Given the description of an element on the screen output the (x, y) to click on. 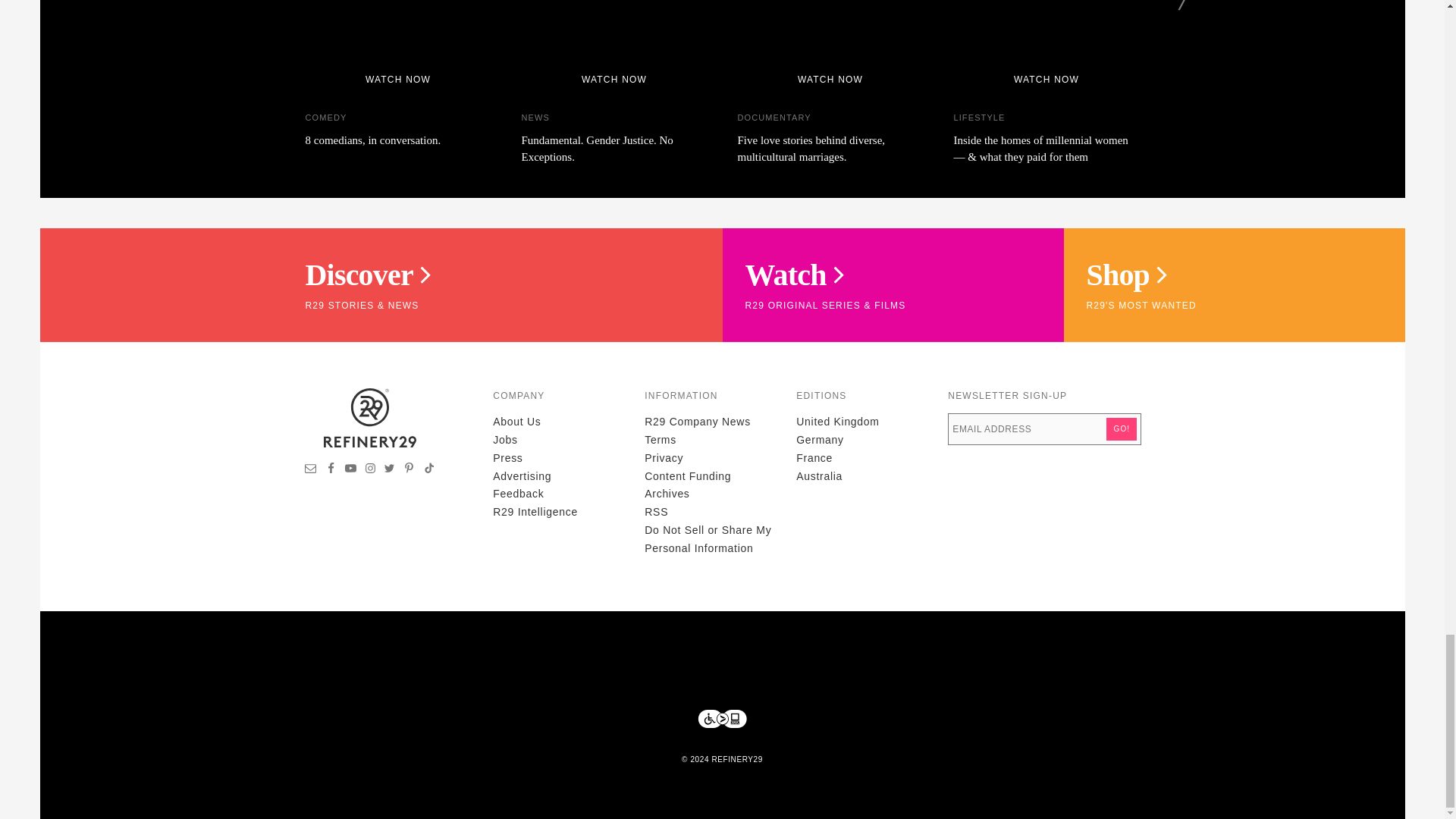
Next (1184, 5)
Visit Refinery29 on YouTube (350, 469)
Sign up for newsletters (310, 469)
